Given the description of an element on the screen output the (x, y) to click on. 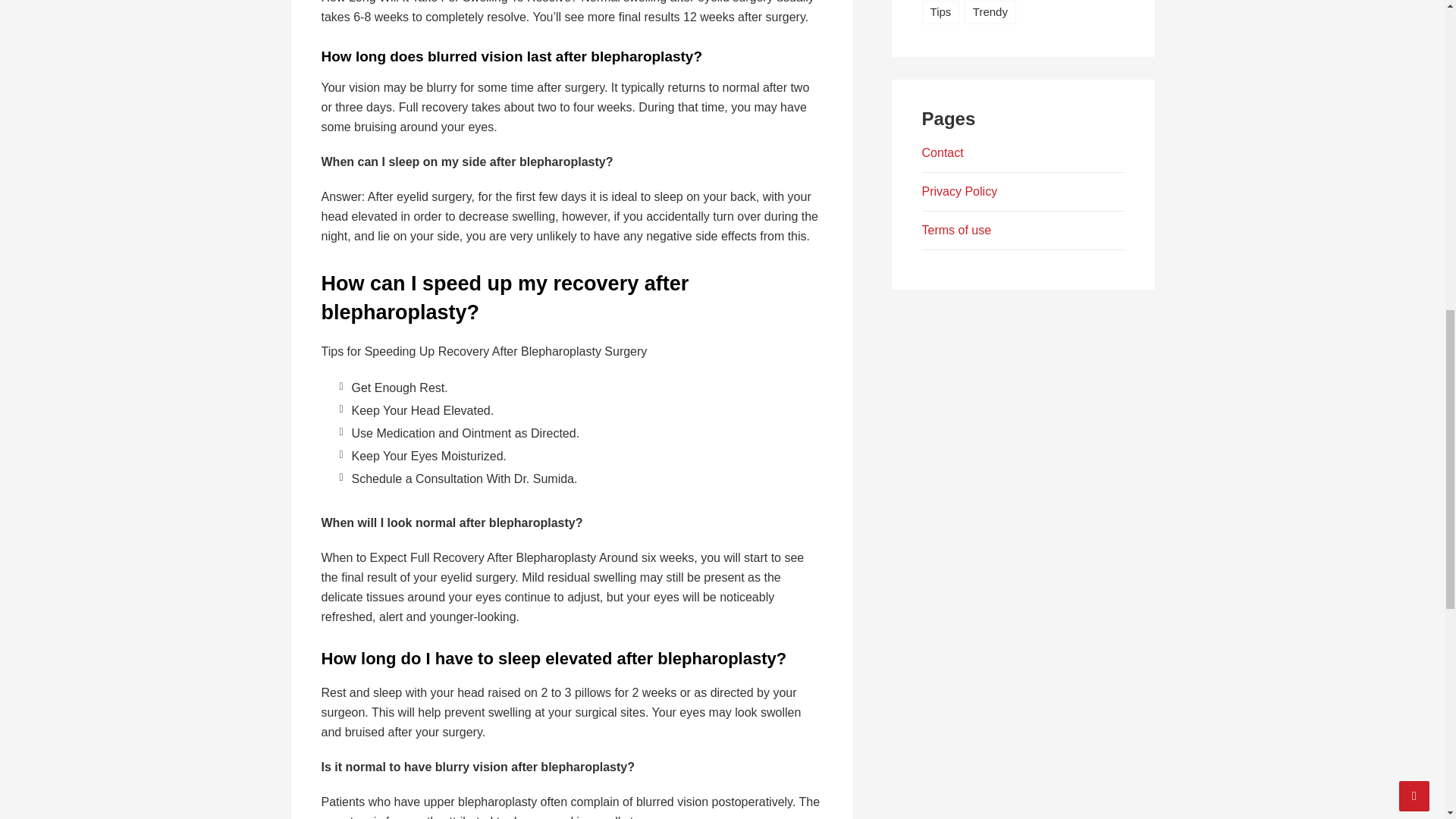
Terms of use (956, 229)
Tips (940, 11)
Trendy (989, 11)
Contact (942, 152)
Privacy Policy (959, 191)
